Given the description of an element on the screen output the (x, y) to click on. 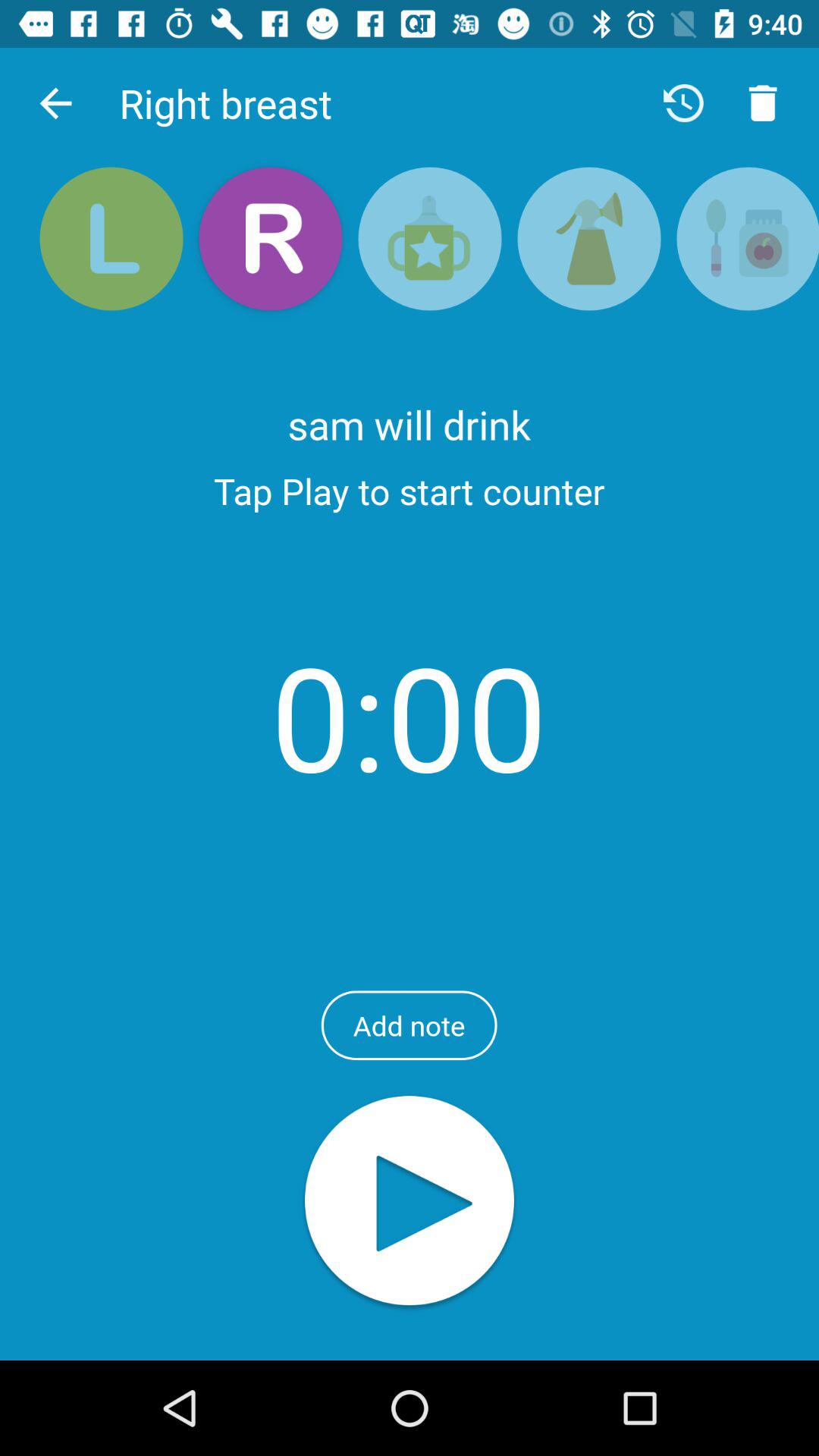
tap icon below 0:00 (409, 1025)
